Given the description of an element on the screen output the (x, y) to click on. 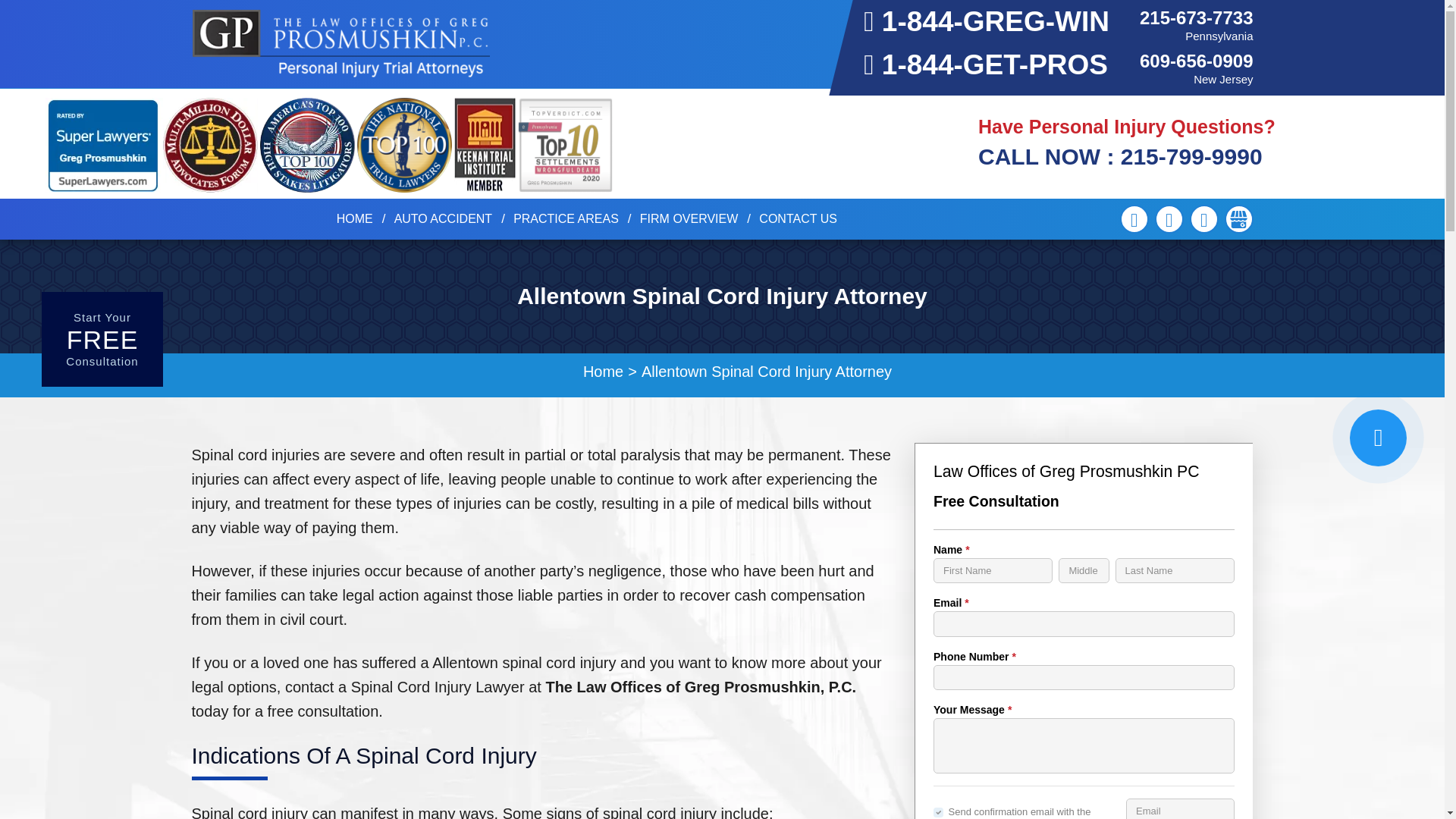
AUTO ACCIDENT (443, 218)
609-656-0909 (1196, 60)
Home (354, 218)
Pennsylvania: 215-673-7733 (1196, 17)
Have Personal Injury Questions? (1126, 126)
1-844-GET-PROS (985, 64)
The Law Offices of Greg Prosmushkin P.C. (339, 43)
1-844-GREG-WIN (986, 20)
HOME (354, 218)
215-799-9990 (1120, 156)
Have Personal Injury Questions? (1126, 126)
215-673-7733 (1196, 17)
New Jersey: 609-656-0909 (1196, 60)
1-844-GET-PROS (985, 64)
CALL NOW : 215-799-9990 (1120, 156)
